Given the description of an element on the screen output the (x, y) to click on. 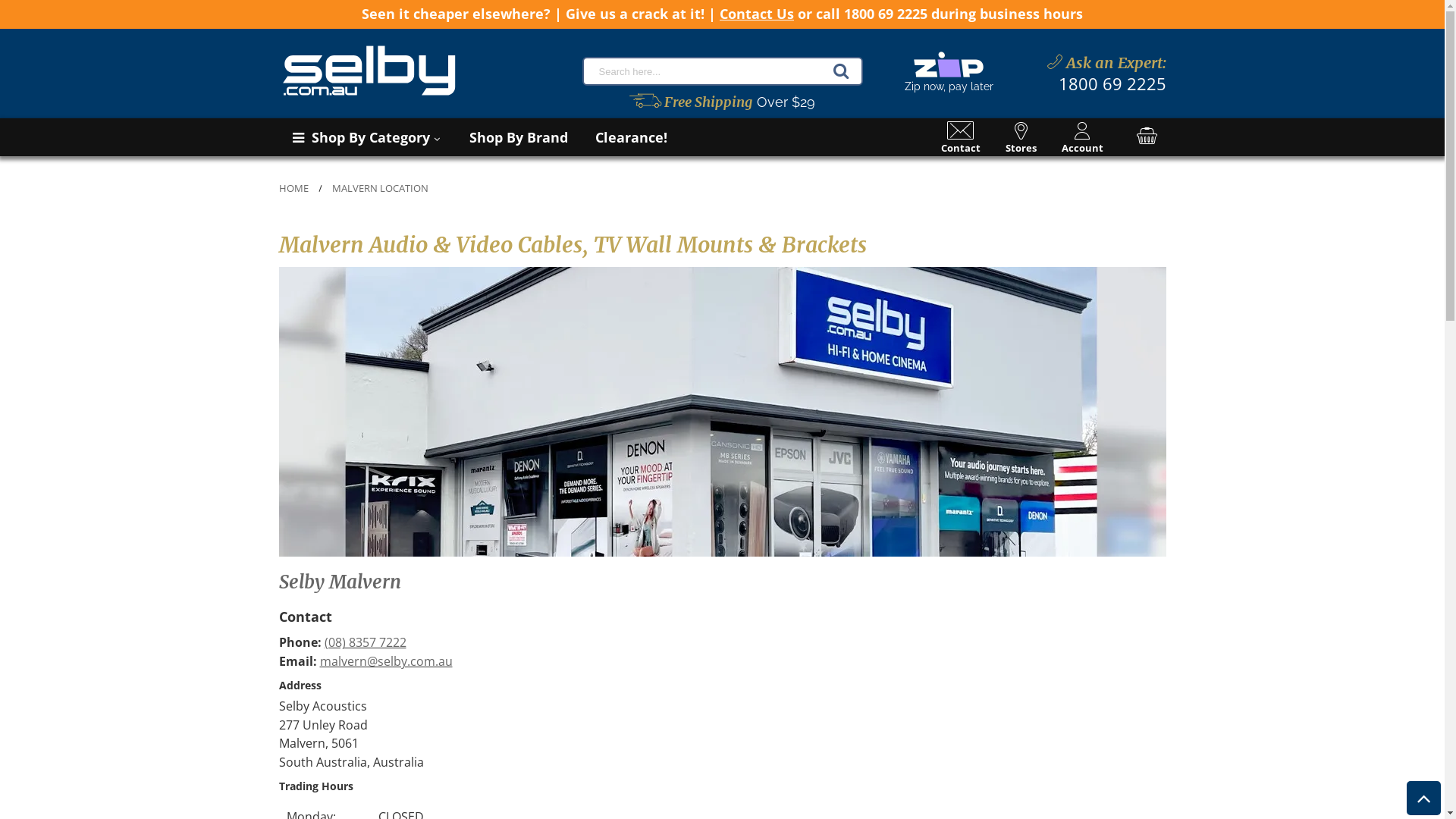
Contact Us Element type: text (756, 13)
Search Element type: hover (840, 70)
Selby Acoustics Element type: hover (369, 70)
malvern@selby.com.au Element type: text (386, 660)
HOME Element type: text (293, 187)
Stores Element type: text (1020, 137)
Contact Element type: text (959, 137)
Shop By Brand Element type: text (517, 137)
(08) 8357 7222 Element type: text (365, 641)
Clearance! Element type: text (630, 137)
Selby Acoustics Element type: hover (419, 70)
Shop By Category Element type: text (366, 137)
Account Element type: text (1082, 137)
